Given the description of an element on the screen output the (x, y) to click on. 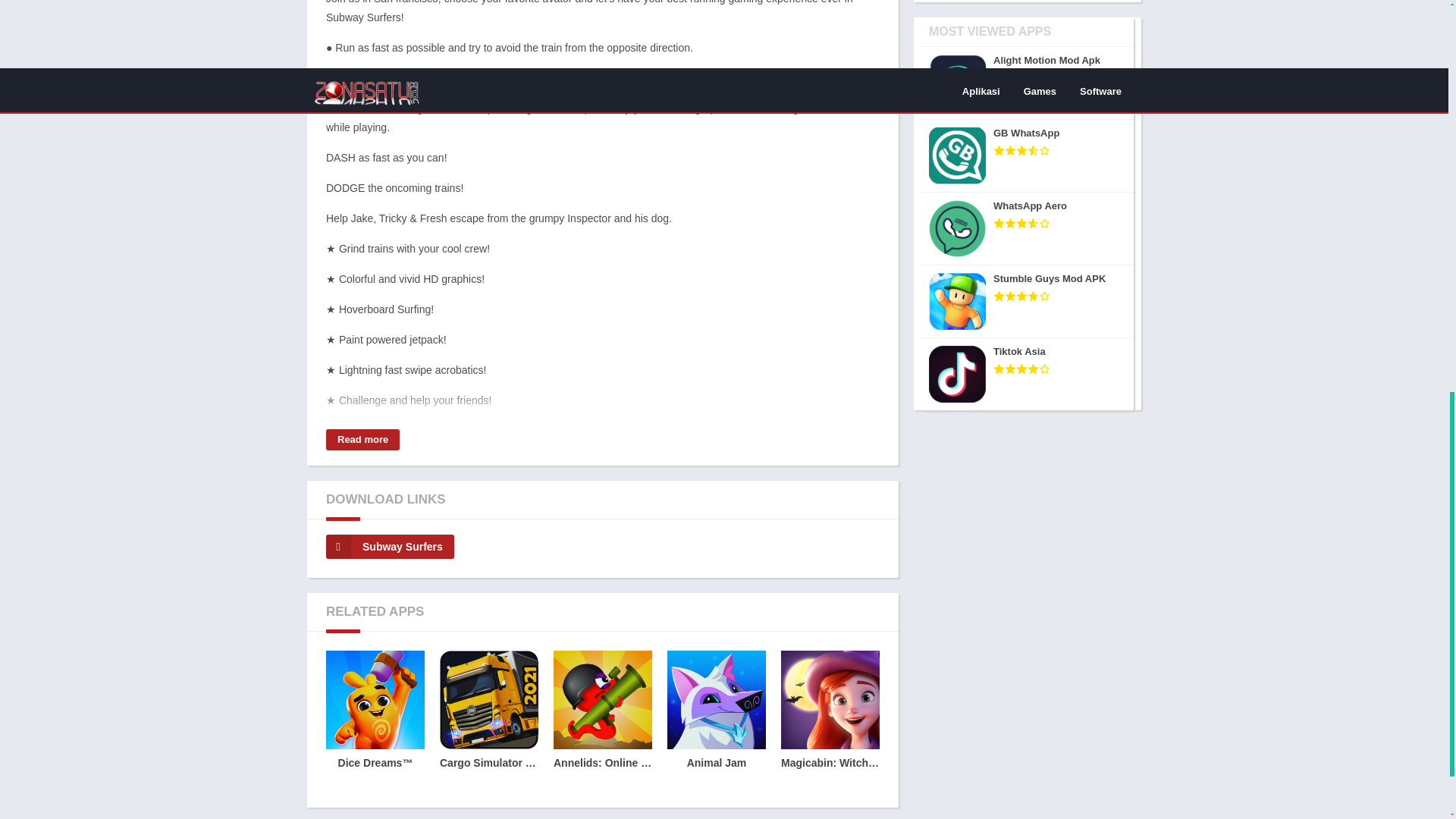
Read more (362, 439)
Subway Surfers (390, 546)
